Given the description of an element on the screen output the (x, y) to click on. 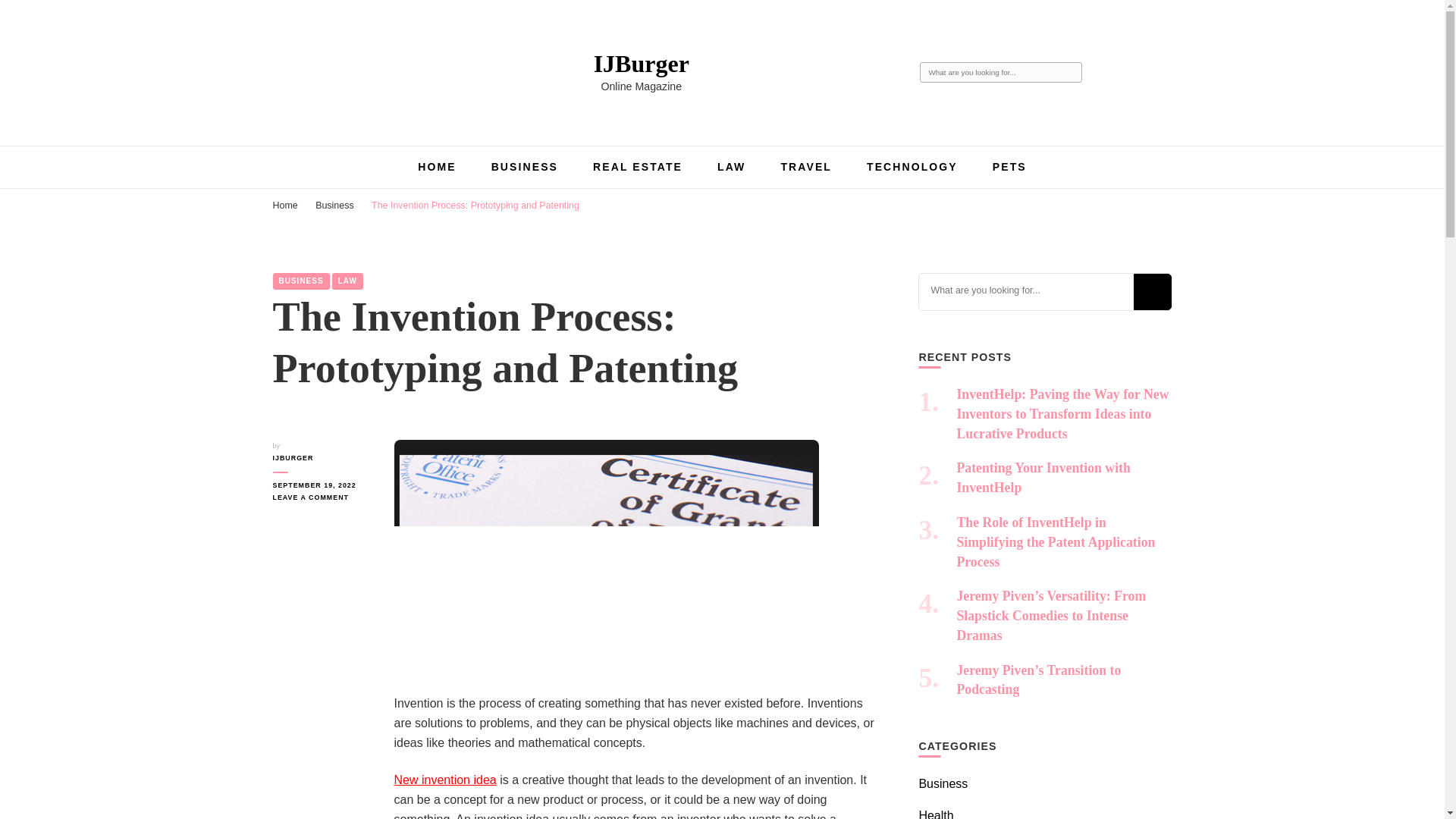
LAW (346, 280)
LAW (731, 166)
BUSINESS (524, 166)
Home (285, 204)
The Invention Process: Prototyping and Patenting (475, 204)
Search (1151, 291)
Search (1071, 72)
New invention idea (445, 779)
SEPTEMBER 19, 2022 (322, 485)
IJBurger (641, 62)
Search (1071, 72)
TRAVEL (805, 166)
